Given the description of an element on the screen output the (x, y) to click on. 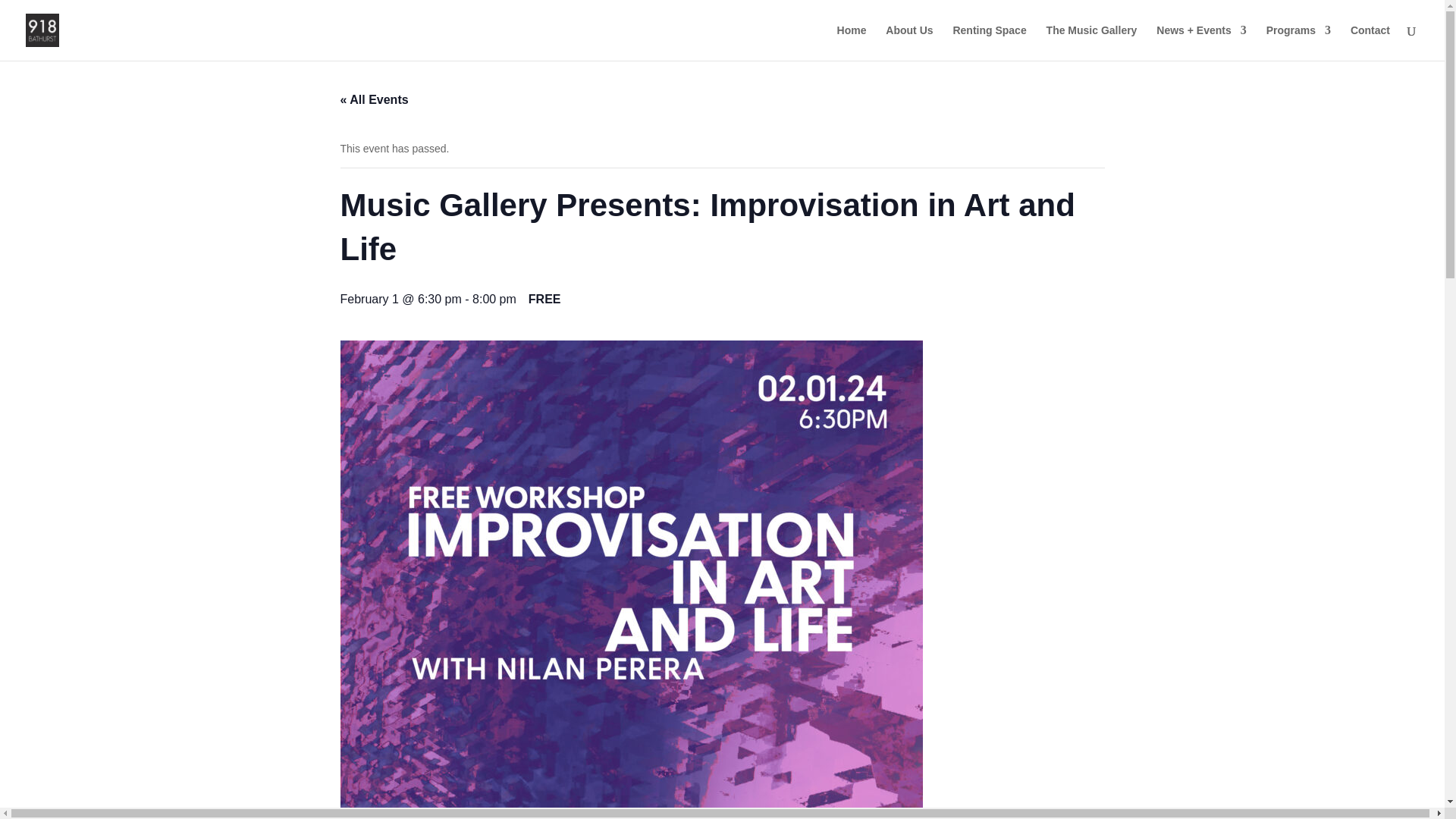
Contact (1370, 42)
Renting Space (989, 42)
Programs (1298, 42)
The Music Gallery (1091, 42)
About Us (909, 42)
